Given the description of an element on the screen output the (x, y) to click on. 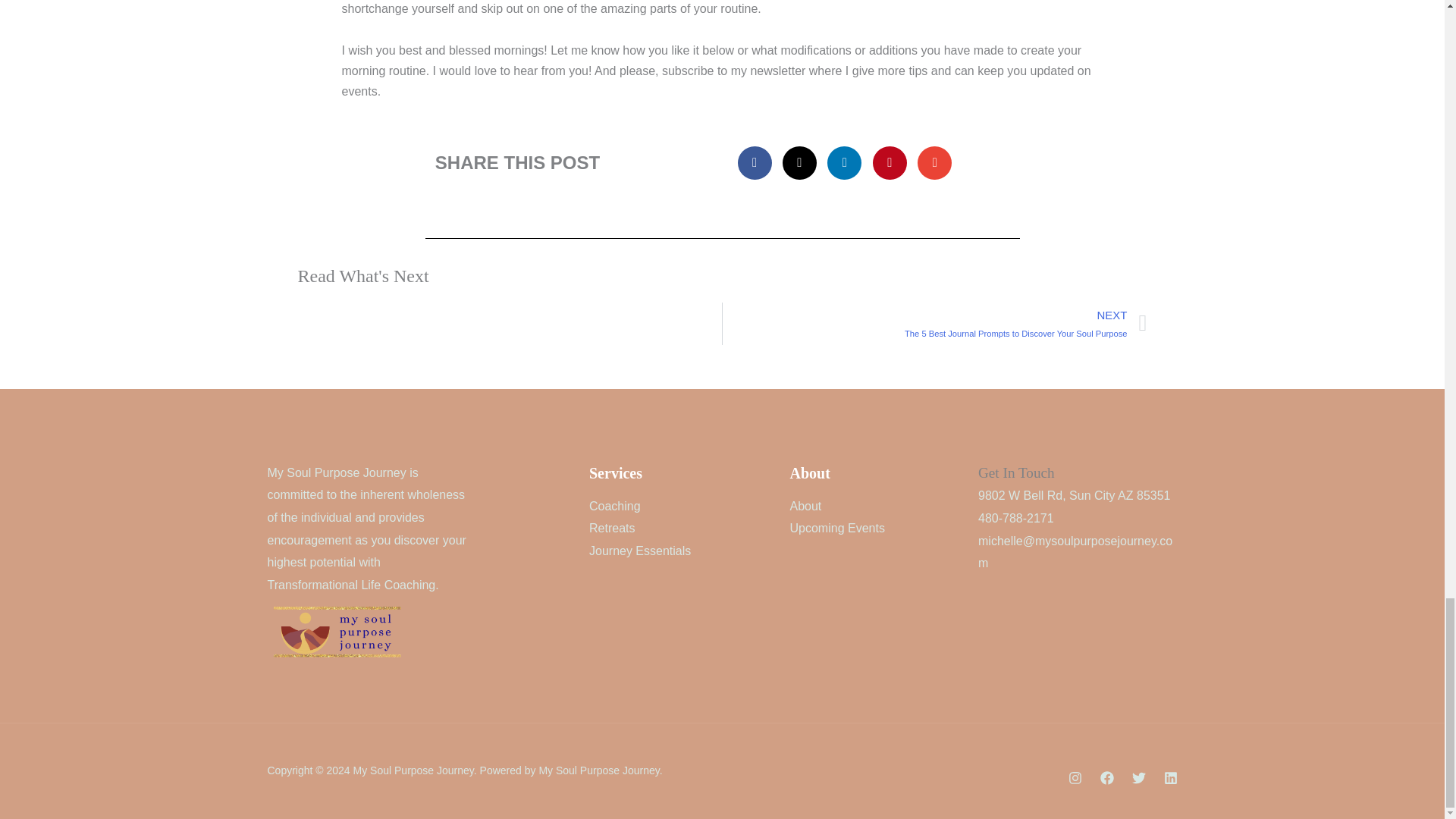
Share on facebook (754, 162)
Retreats (611, 527)
Share on pinterest (890, 162)
About (806, 505)
Share on email (934, 162)
Share on linkedin (844, 162)
Coaching (614, 505)
Journey Essentials (639, 550)
Share on twitter (799, 162)
